Given the description of an element on the screen output the (x, y) to click on. 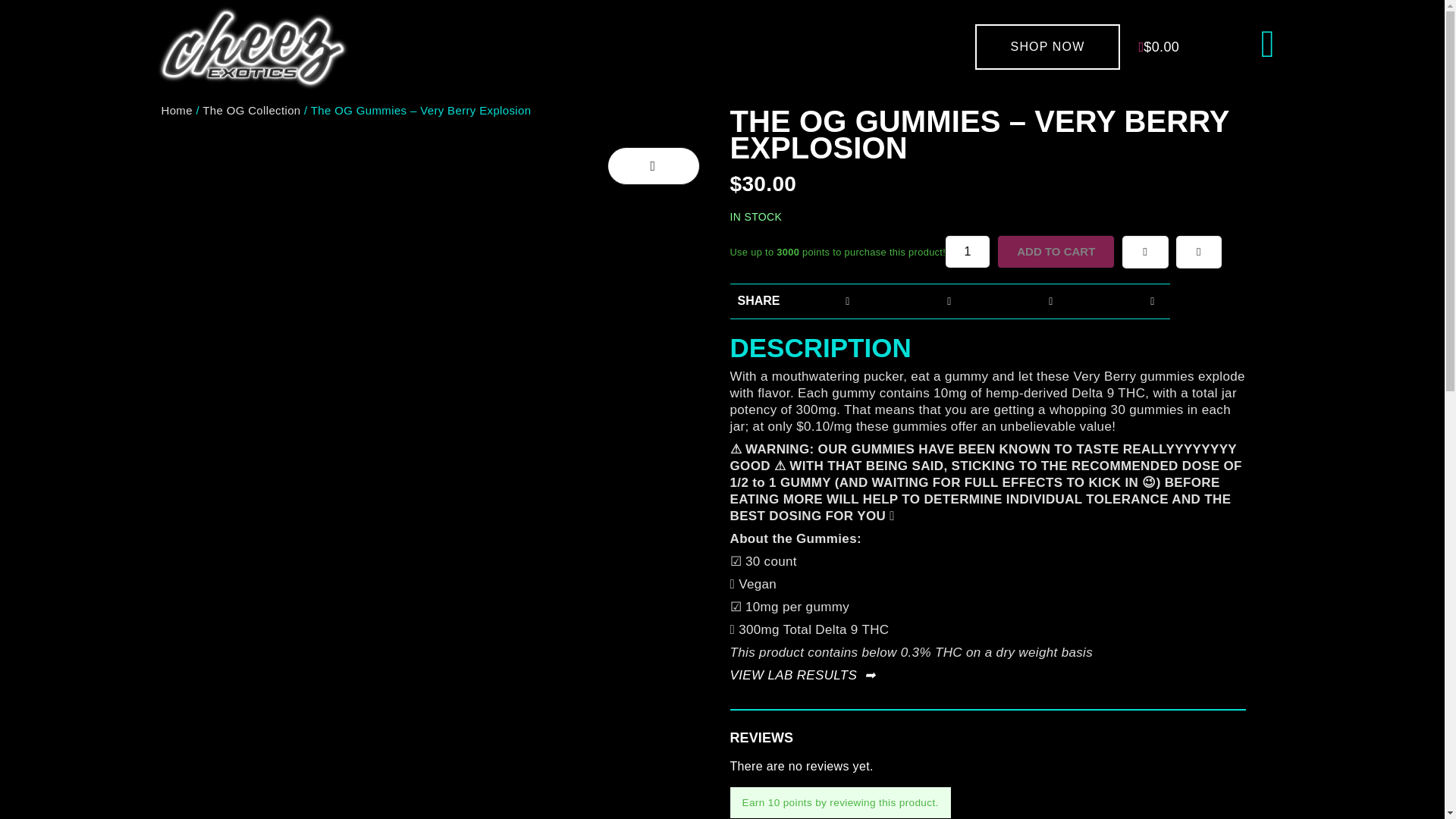
The OG Collection (250, 110)
1 (967, 251)
Add to Wishlist (1145, 251)
Product Thumbnail (652, 166)
Home (176, 110)
SHOP NOW (1048, 46)
ADD TO CART (1056, 251)
